Given the description of an element on the screen output the (x, y) to click on. 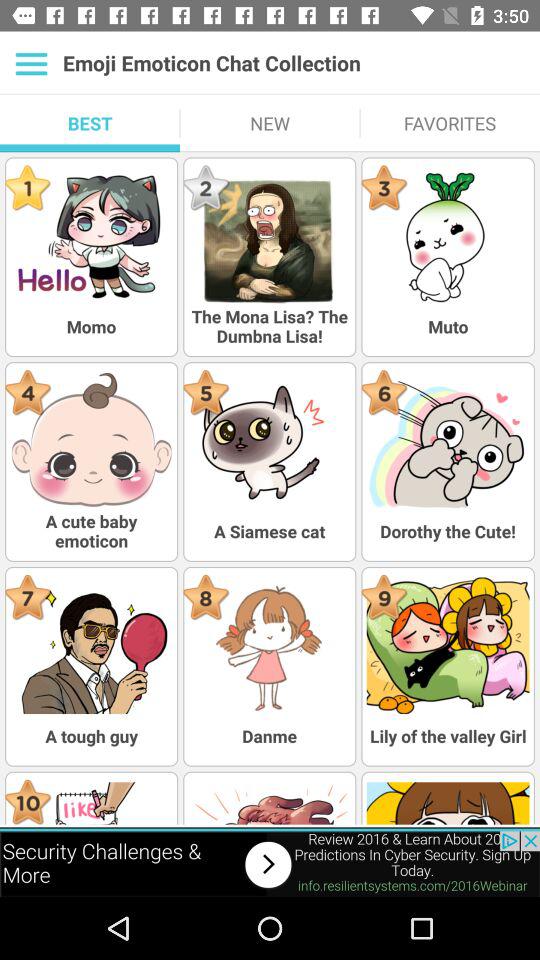
visit advertised website (270, 864)
